Given the description of an element on the screen output the (x, y) to click on. 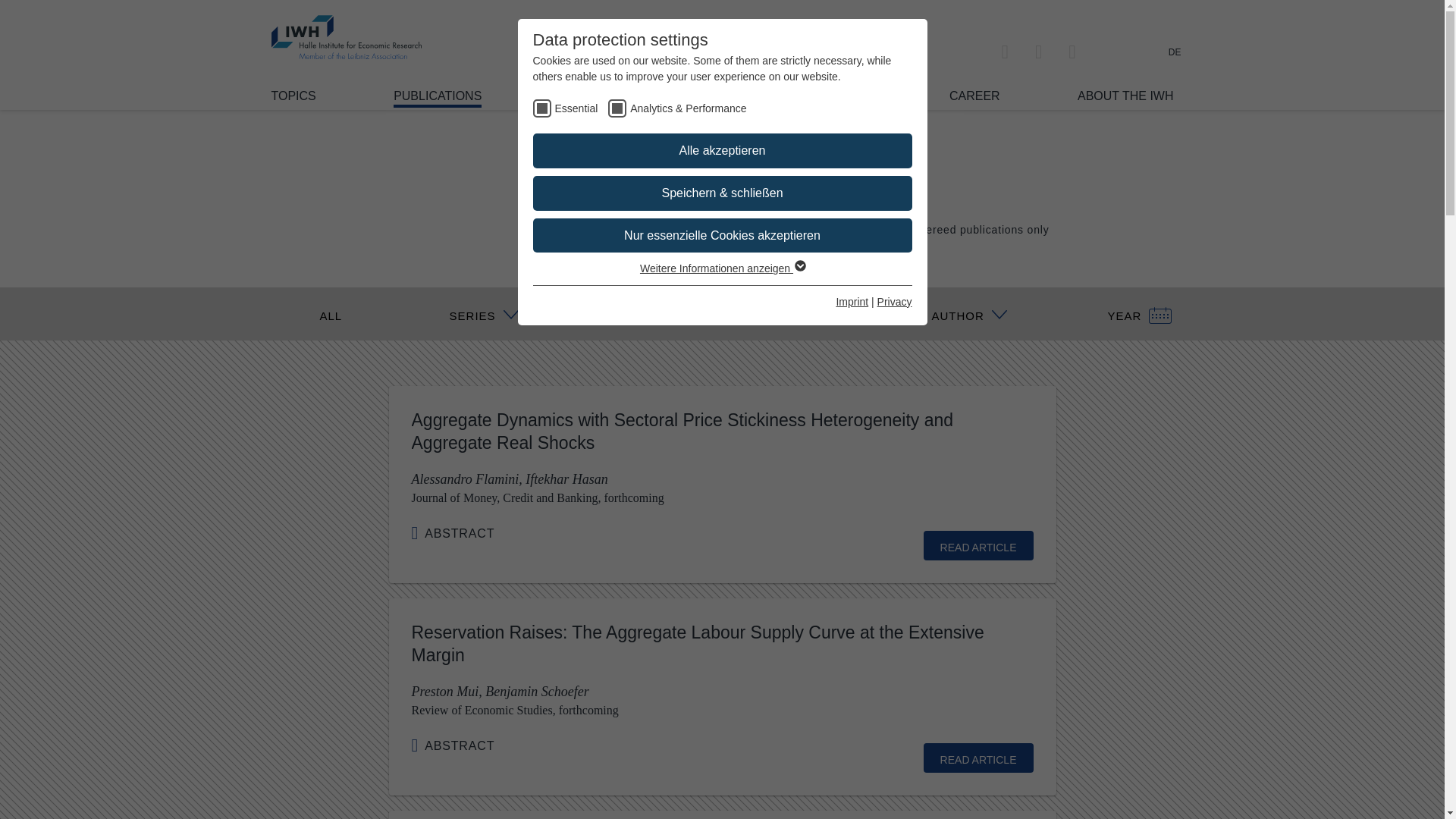
TOPICS (292, 96)
DE (1174, 51)
RESEARCH (593, 96)
1 (889, 227)
PUBLICATIONS (437, 98)
